Given the description of an element on the screen output the (x, y) to click on. 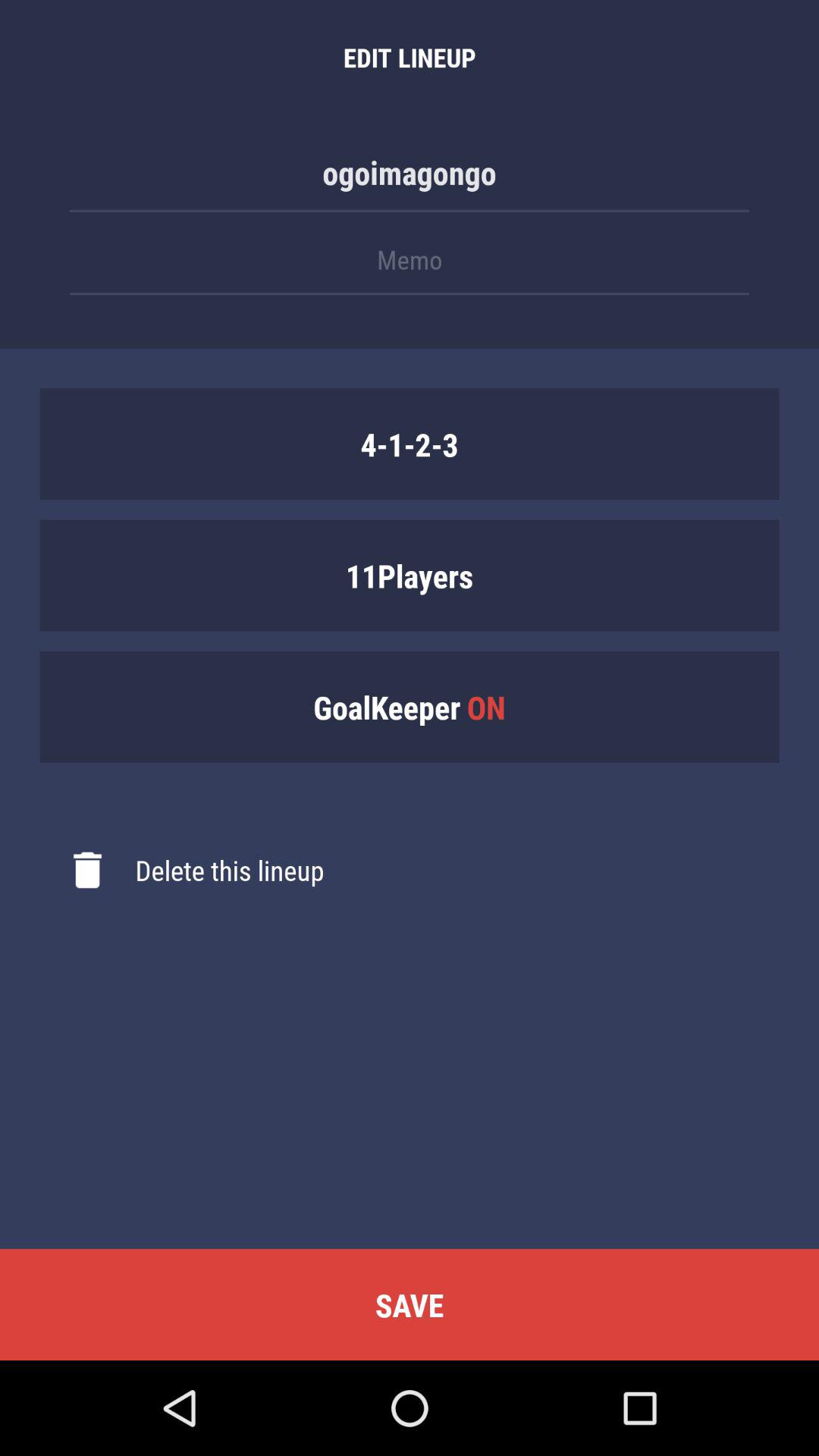
select 4 1 2 item (409, 443)
